Given the description of an element on the screen output the (x, y) to click on. 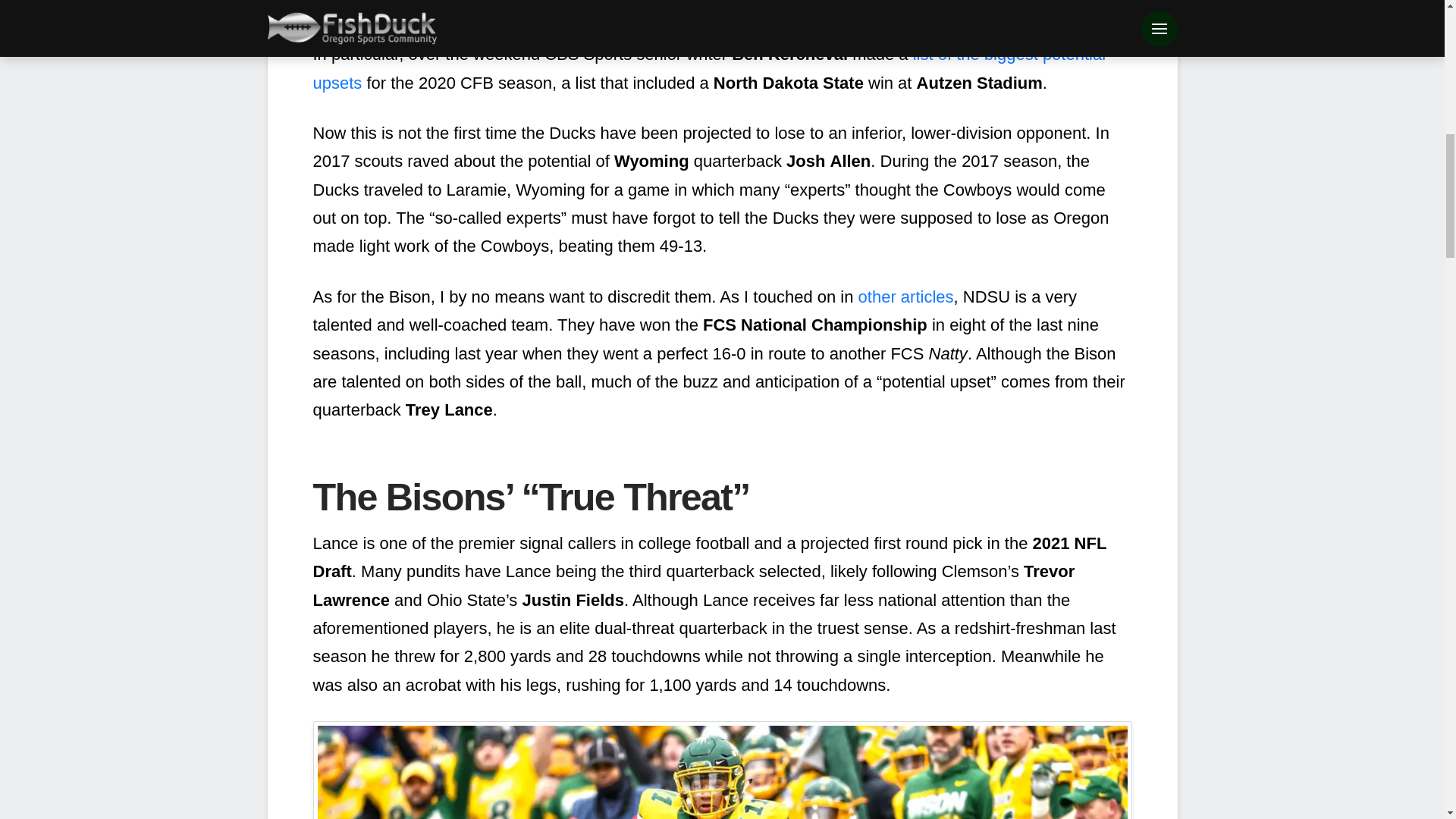
list of the biggest potential upsets (709, 68)
other articles (906, 296)
